Given the description of an element on the screen output the (x, y) to click on. 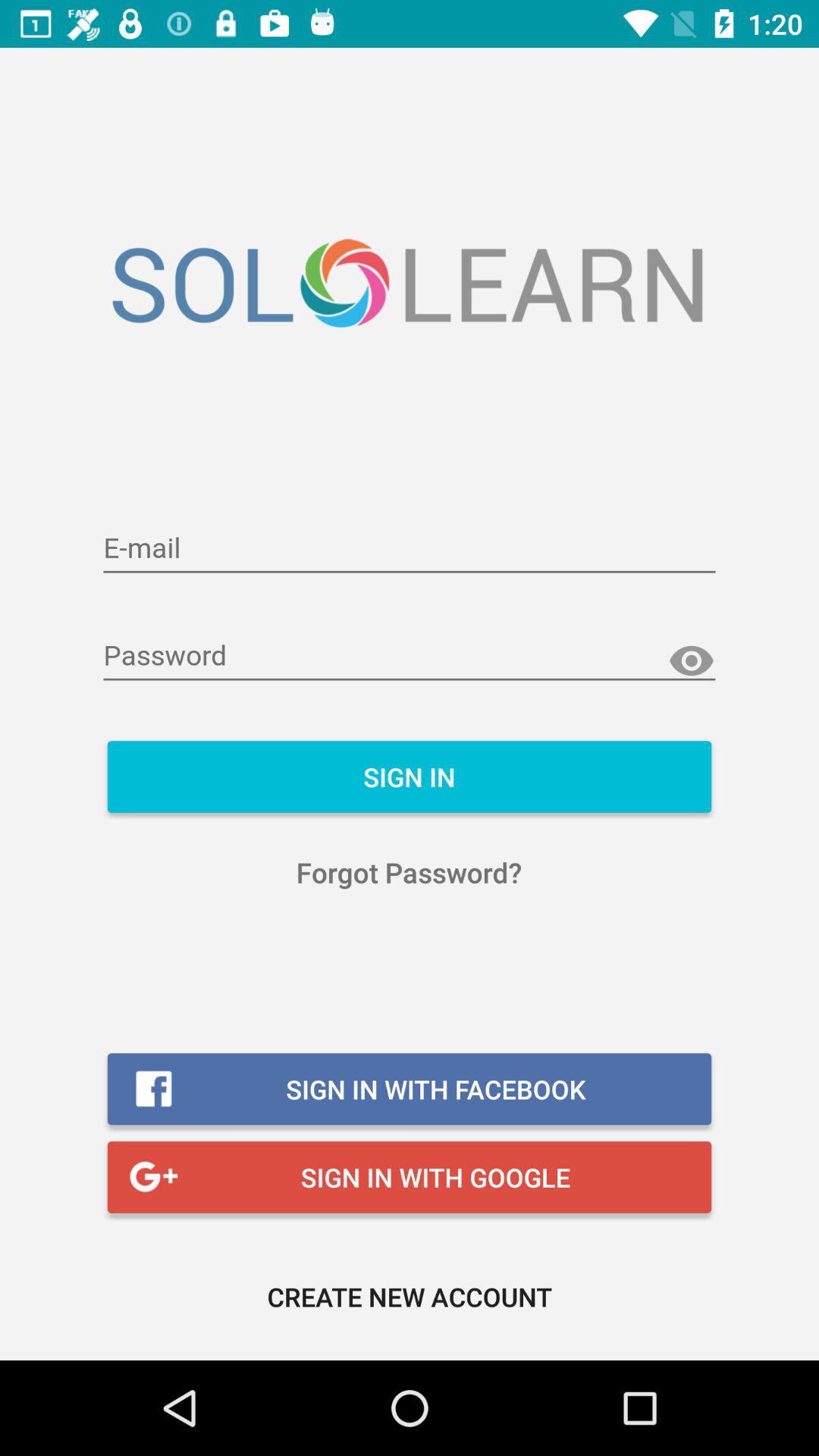
click icon below sign in item (409, 872)
